Given the description of an element on the screen output the (x, y) to click on. 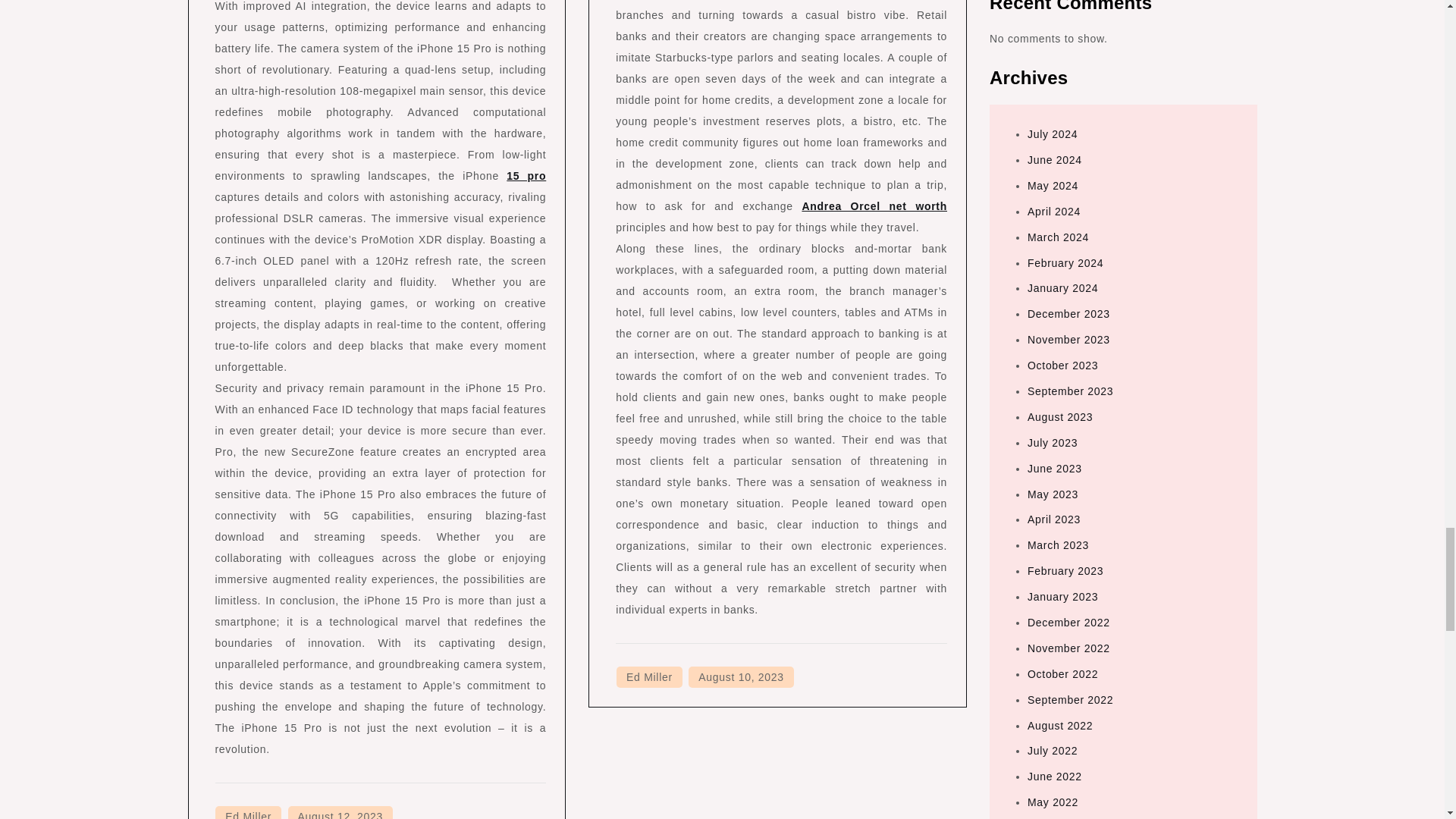
Ed Miller (248, 812)
August 12, 2023 (340, 812)
August 10, 2023 (740, 676)
15 pro (526, 175)
Ed Miller (648, 676)
Andrea Orcel net worth (874, 205)
